Given the description of an element on the screen output the (x, y) to click on. 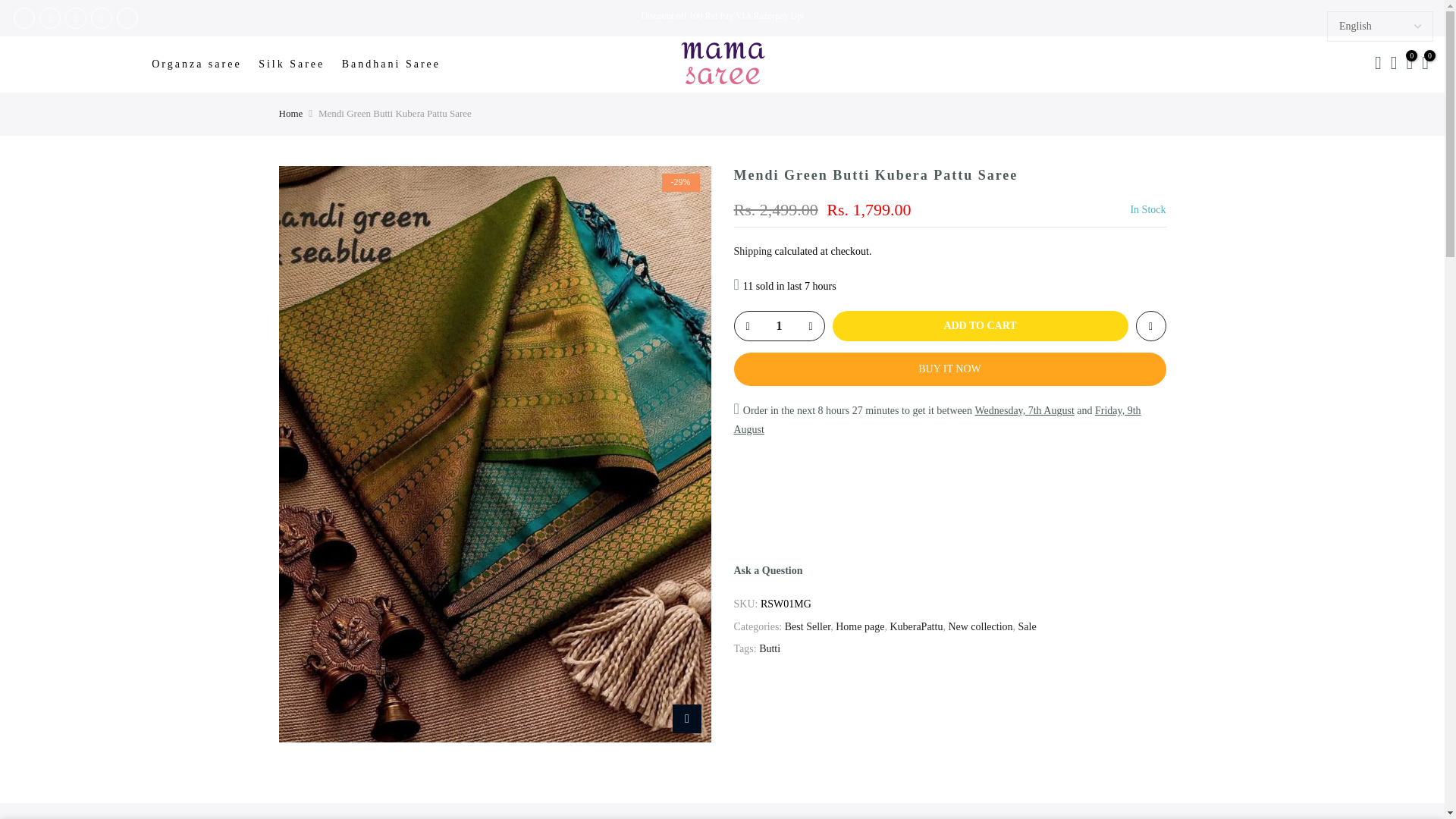
Home (290, 112)
Sale (1026, 626)
Best Seller (806, 626)
Pay VIA Razorpay Upi (761, 15)
Butti (769, 648)
1 (778, 326)
ADD TO CART (980, 326)
Ask a Question (768, 570)
BUY IT NOW (949, 368)
New collection (979, 626)
Bandhani Saree (395, 63)
All collections (761, 15)
KuberaPattu (915, 626)
Home page (859, 626)
Organza saree (201, 63)
